Given the description of an element on the screen output the (x, y) to click on. 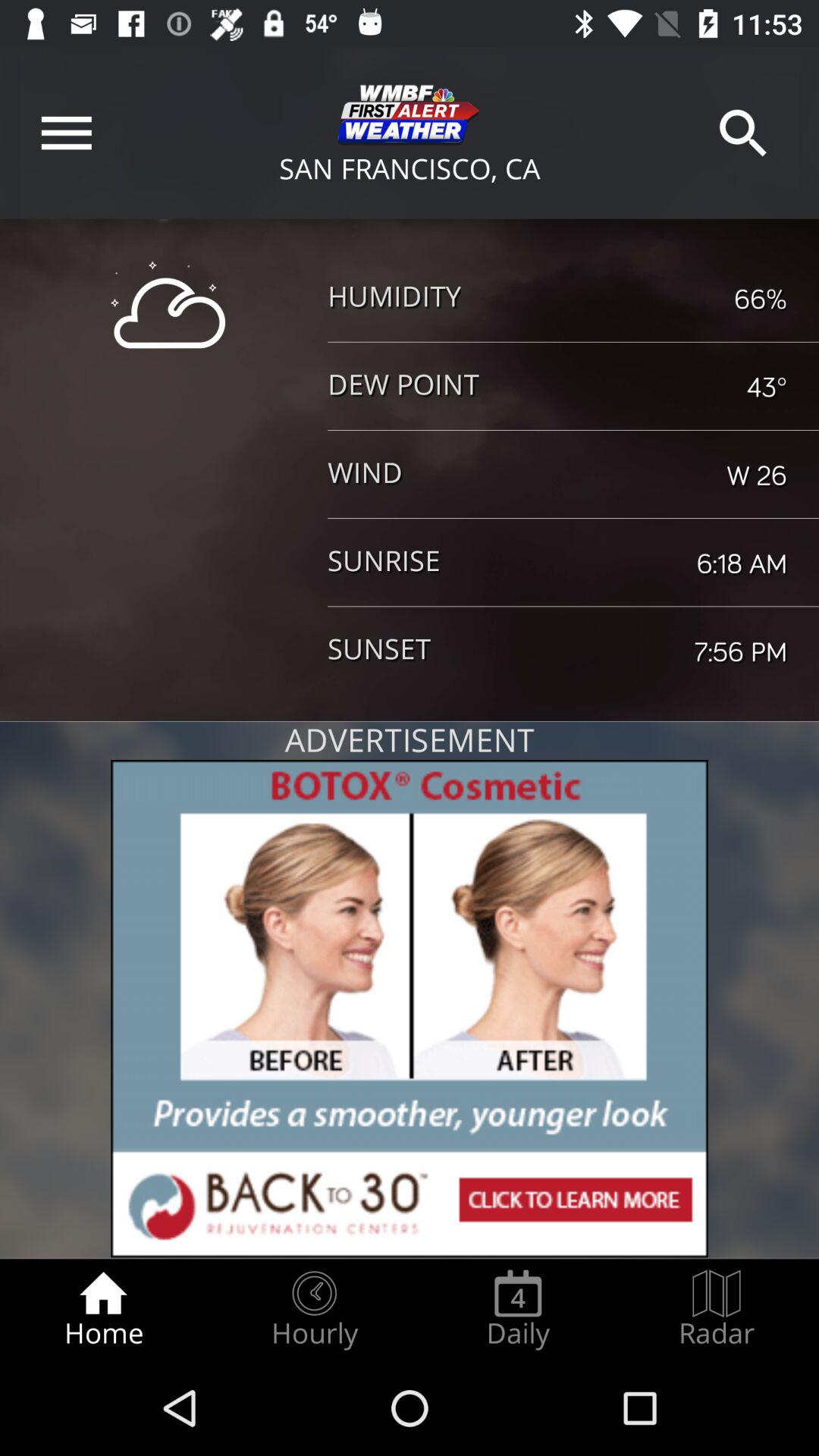
choose item to the left of the hourly radio button (103, 1309)
